Given the description of an element on the screen output the (x, y) to click on. 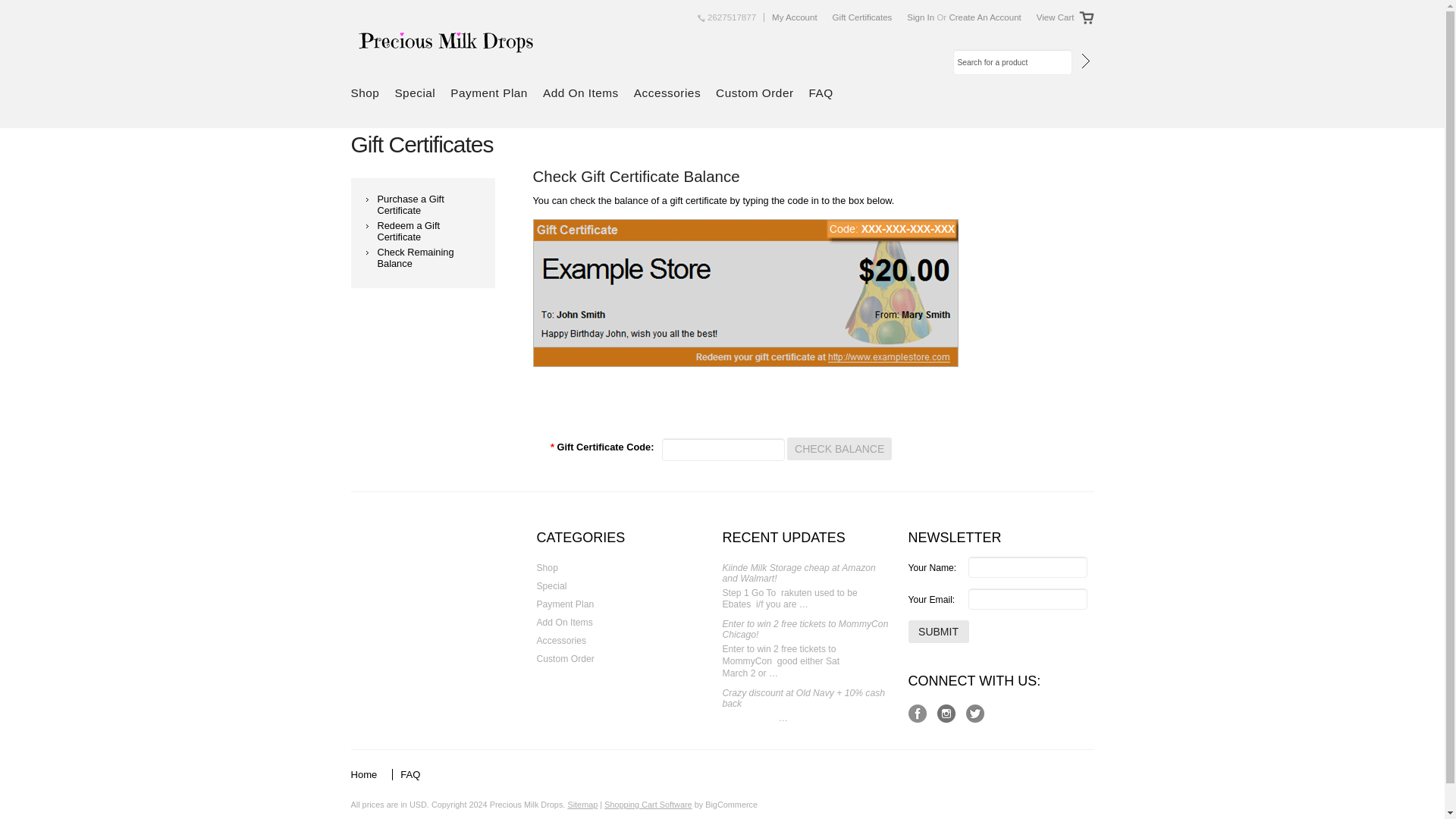
Submit (938, 630)
Instagram (946, 713)
Check Balance (839, 448)
Add On Items (584, 94)
View Cart (1055, 17)
Facebook (917, 713)
US Dollars (417, 804)
Sign In (920, 17)
Accessories (670, 94)
Shop (582, 567)
